Given the description of an element on the screen output the (x, y) to click on. 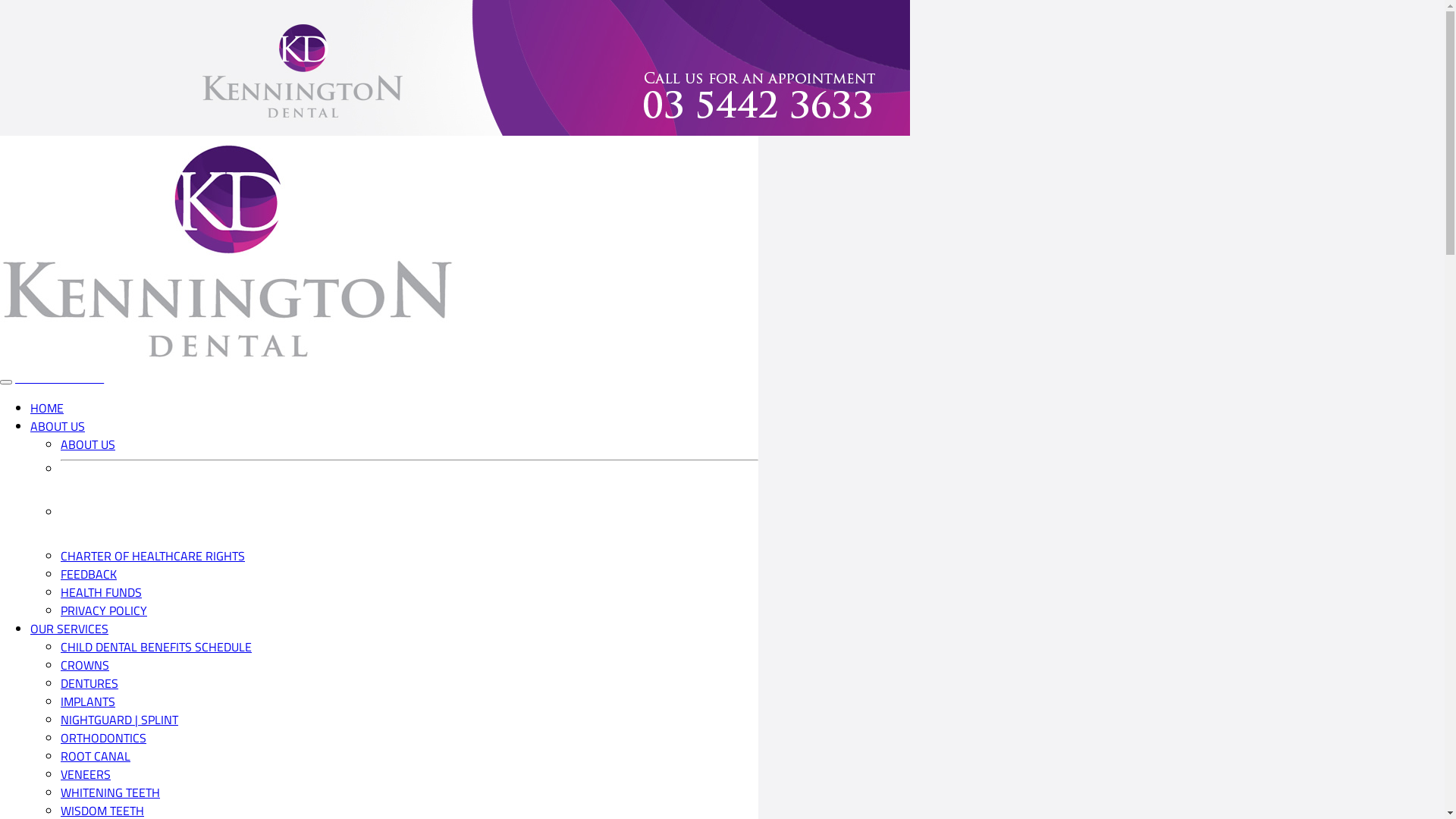
HEALTH FUNDS Element type: text (100, 592)
VENEERS Element type: text (85, 774)
ORTHODONTICS Element type: text (103, 737)
CROWNS Element type: text (84, 664)
CHILD DENTAL BENEFITS SCHEDULE Element type: text (155, 646)
HOME Element type: text (46, 407)
ABOUT US Element type: text (87, 444)
DENTURES Element type: text (89, 683)
NIGHTGUARD | SPLINT Element type: text (119, 719)
FEEDBACK Element type: text (88, 573)
ROOT CANAL Element type: text (95, 755)
ABOUT US Element type: text (57, 426)
03 5442 3633 Element type: text (59, 377)
CHARTER OF HEALTHCARE RIGHTS Element type: text (152, 555)
IMPLANTS Element type: text (87, 701)
PRIVACY POLICY Element type: text (103, 610)
WHITENING TEETH Element type: text (110, 792)
OUR SERVICES Element type: text (69, 628)
